Given the description of an element on the screen output the (x, y) to click on. 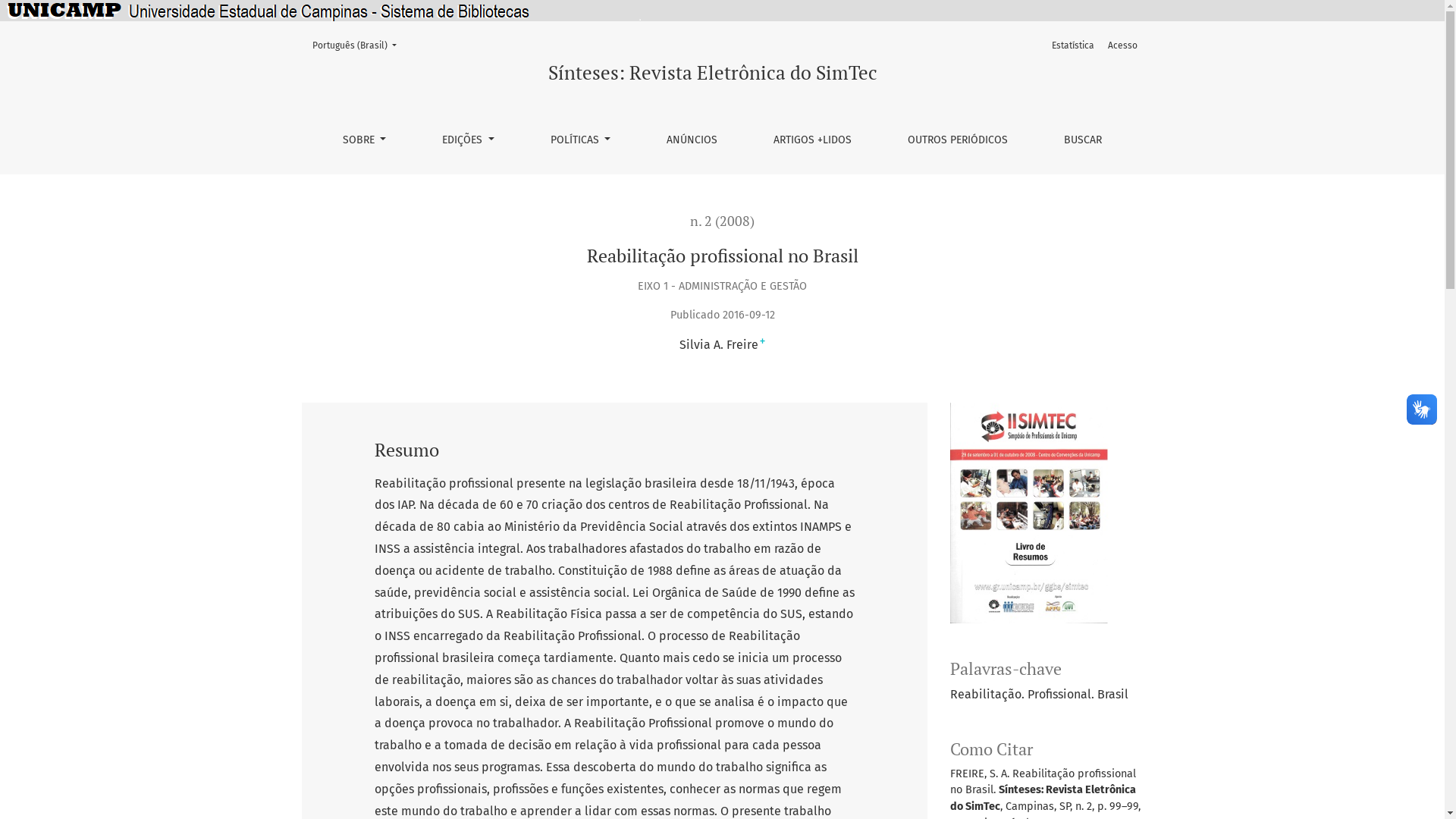
Acesso Element type: text (1122, 45)
SOBRE Element type: text (364, 140)
n. 2 (2008) Element type: text (722, 220)
ARTIGOS +LIDOS Element type: text (812, 140)
Silvia A. Freire+ Element type: text (722, 344)
BUSCAR Element type: text (1082, 140)
